Given the description of an element on the screen output the (x, y) to click on. 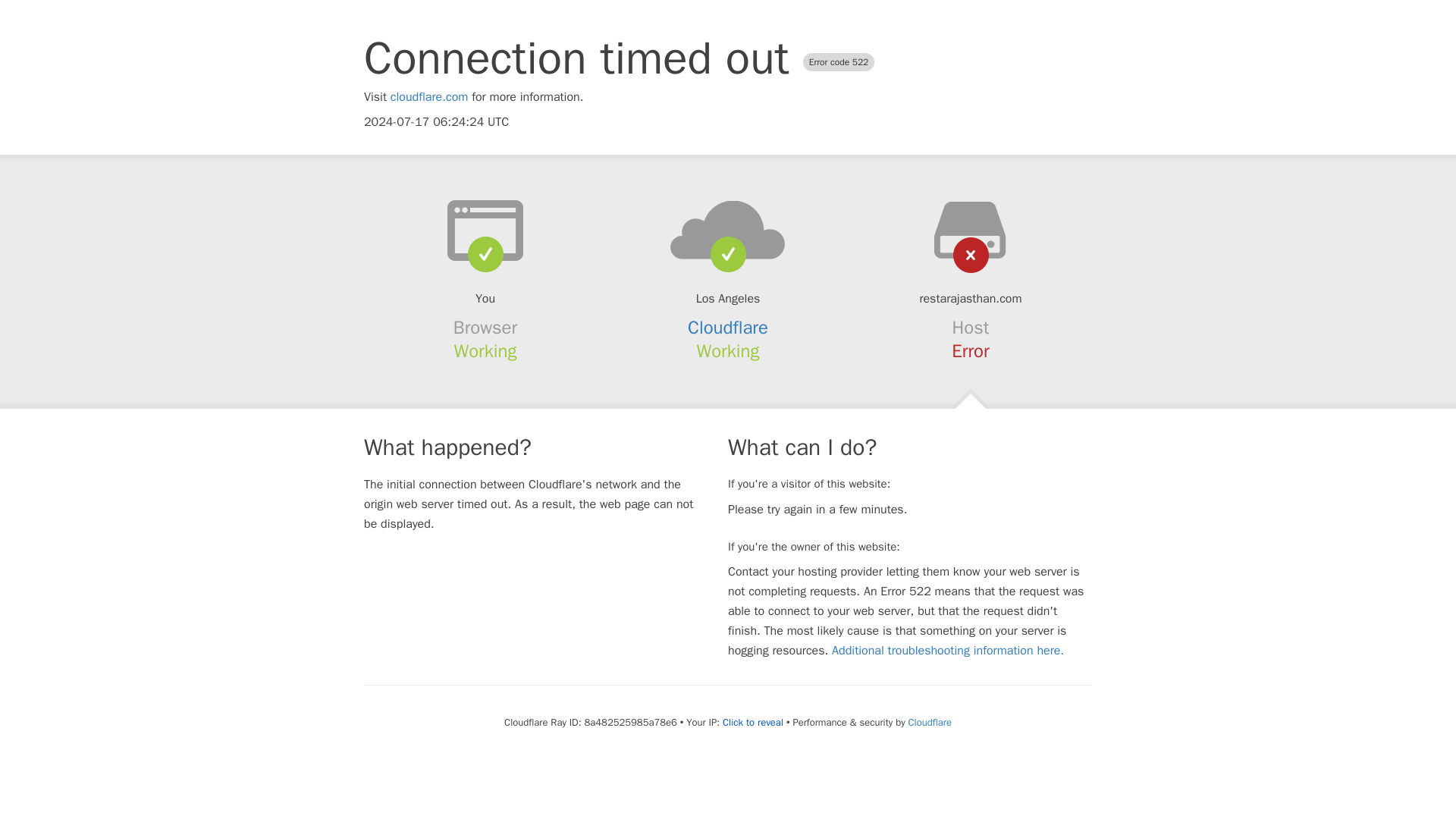
Cloudflare (930, 721)
Click to reveal (752, 722)
cloudflare.com (429, 96)
Cloudflare (727, 327)
Additional troubleshooting information here. (947, 650)
